Given the description of an element on the screen output the (x, y) to click on. 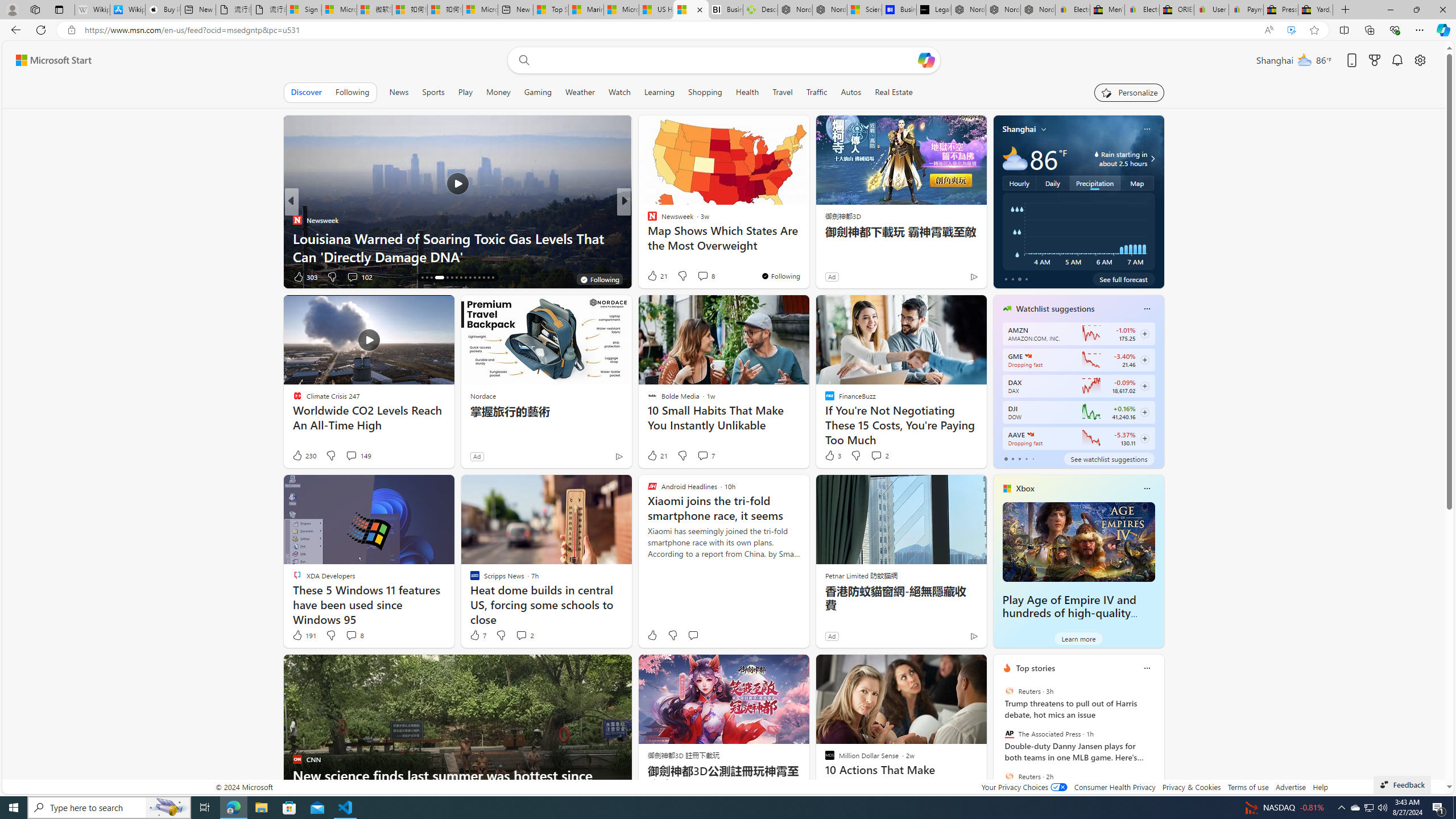
Watchlist suggestions (1055, 308)
Severe Storms To Strike Plains To Great Lakes Early Week (807, 247)
tab-0 (1005, 458)
View comments 149 Comment (357, 455)
Vox.com (647, 219)
Enhance video (1291, 29)
3 Like (831, 455)
